Given the description of an element on the screen output the (x, y) to click on. 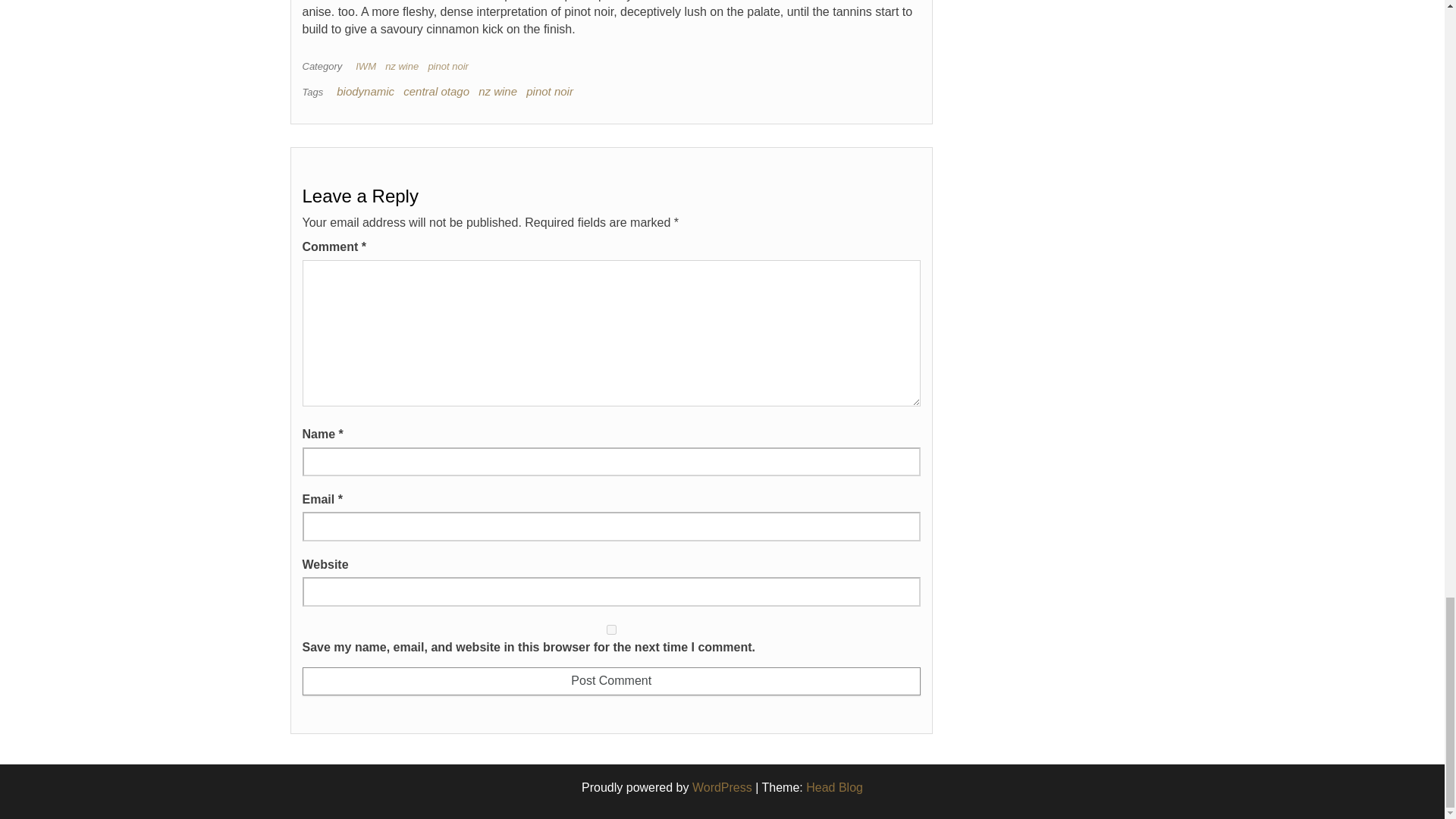
Post Comment (610, 680)
pinot noir (549, 91)
Head Blog (834, 787)
IWM (368, 66)
Post Comment (610, 680)
pinot noir (451, 66)
biodynamic (365, 91)
yes (610, 629)
nz wine (497, 91)
central otago (435, 91)
nz wine (405, 66)
WordPress (722, 787)
